Given the description of an element on the screen output the (x, y) to click on. 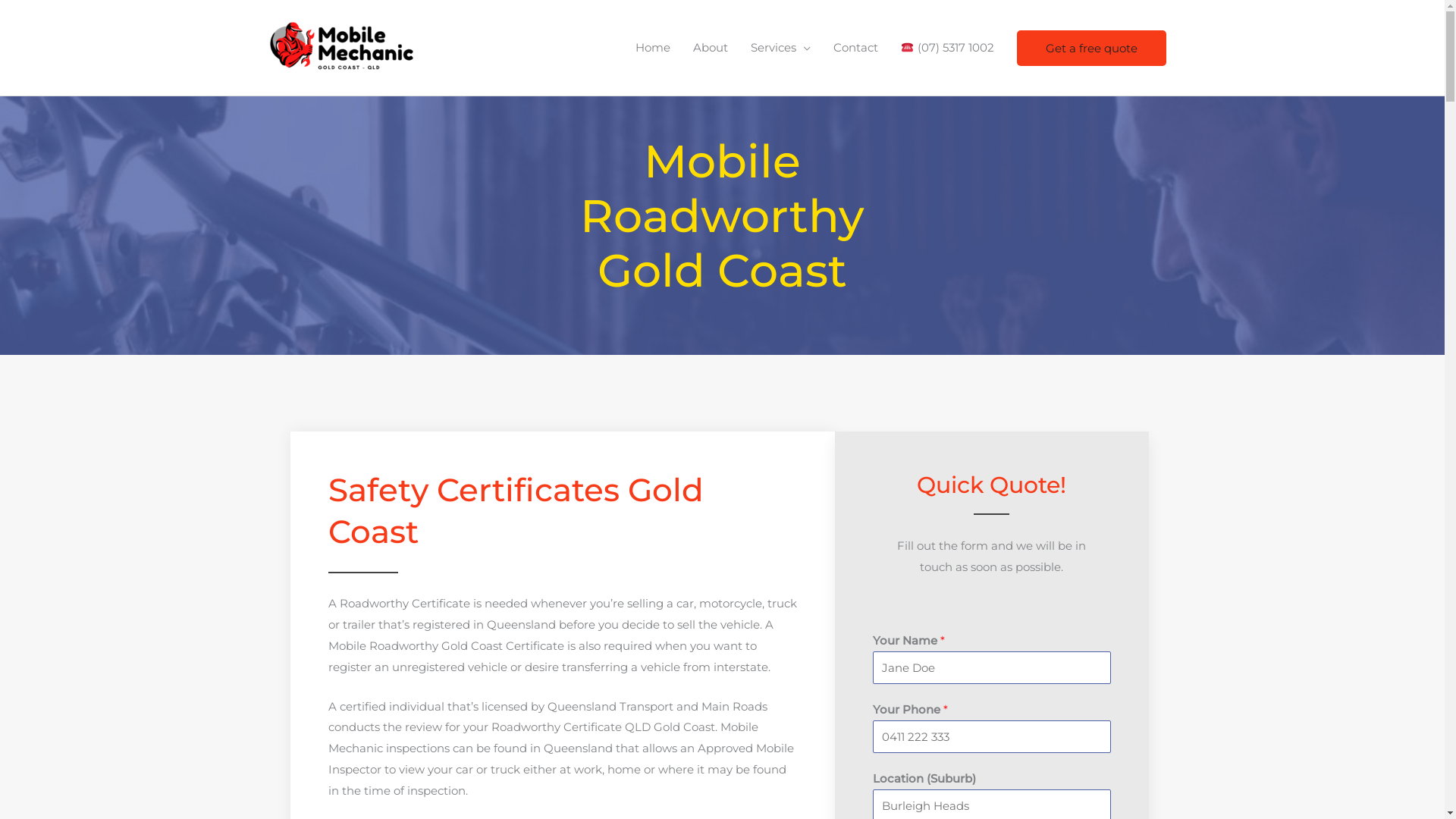
Home Element type: text (652, 47)
(07) 5317 1002 Element type: text (946, 47)
Contact Element type: text (855, 47)
About Element type: text (710, 47)
Get a free quote Element type: text (1090, 47)
Services Element type: text (780, 47)
